Given the description of an element on the screen output the (x, y) to click on. 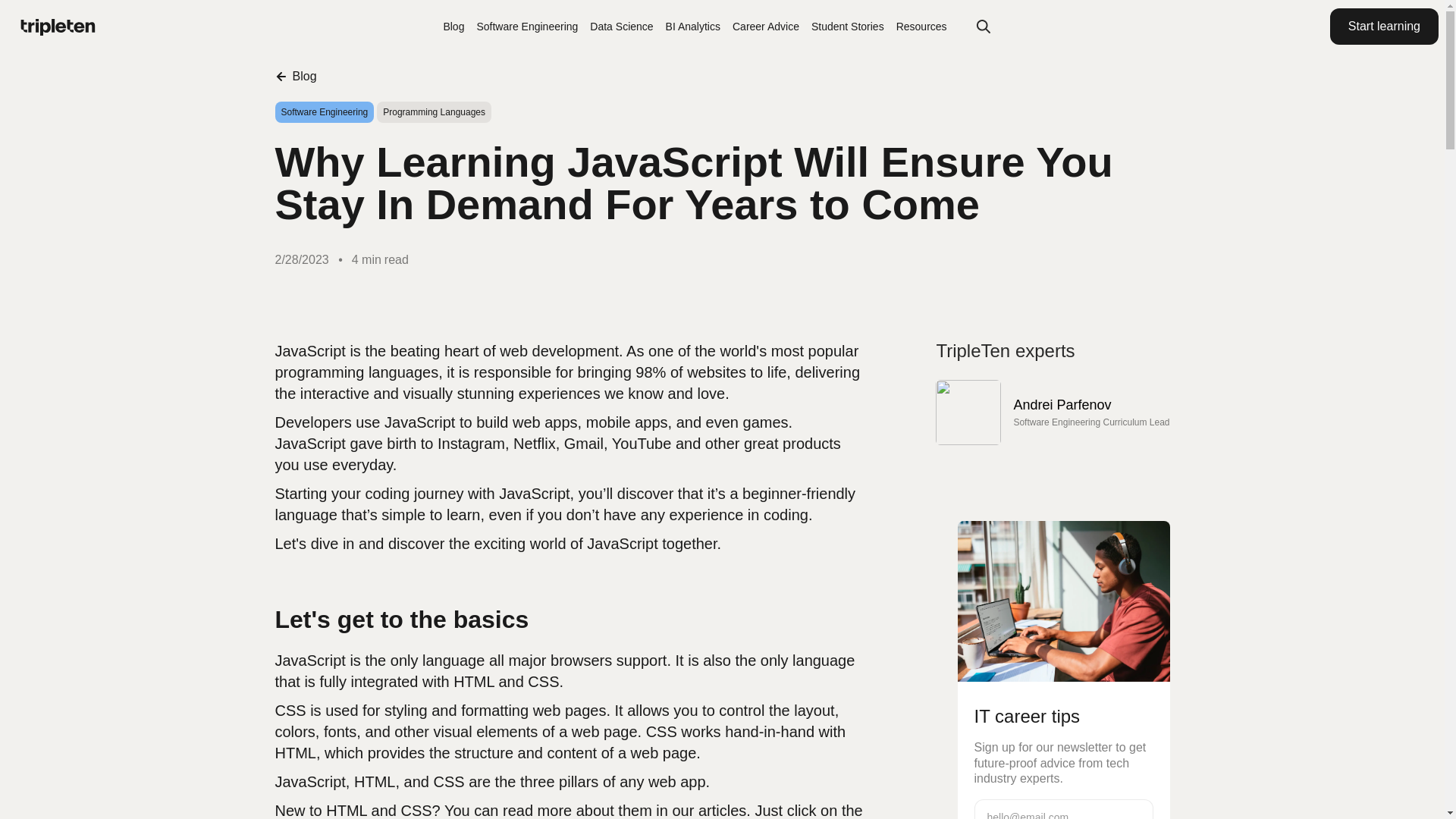
Student Stories (846, 26)
Start learning (1384, 25)
Data Science (620, 26)
Blog (453, 26)
Software Engineering (527, 26)
Blog (295, 76)
BI Analytics (692, 26)
Resources (921, 26)
Career Advice (765, 26)
